Given the description of an element on the screen output the (x, y) to click on. 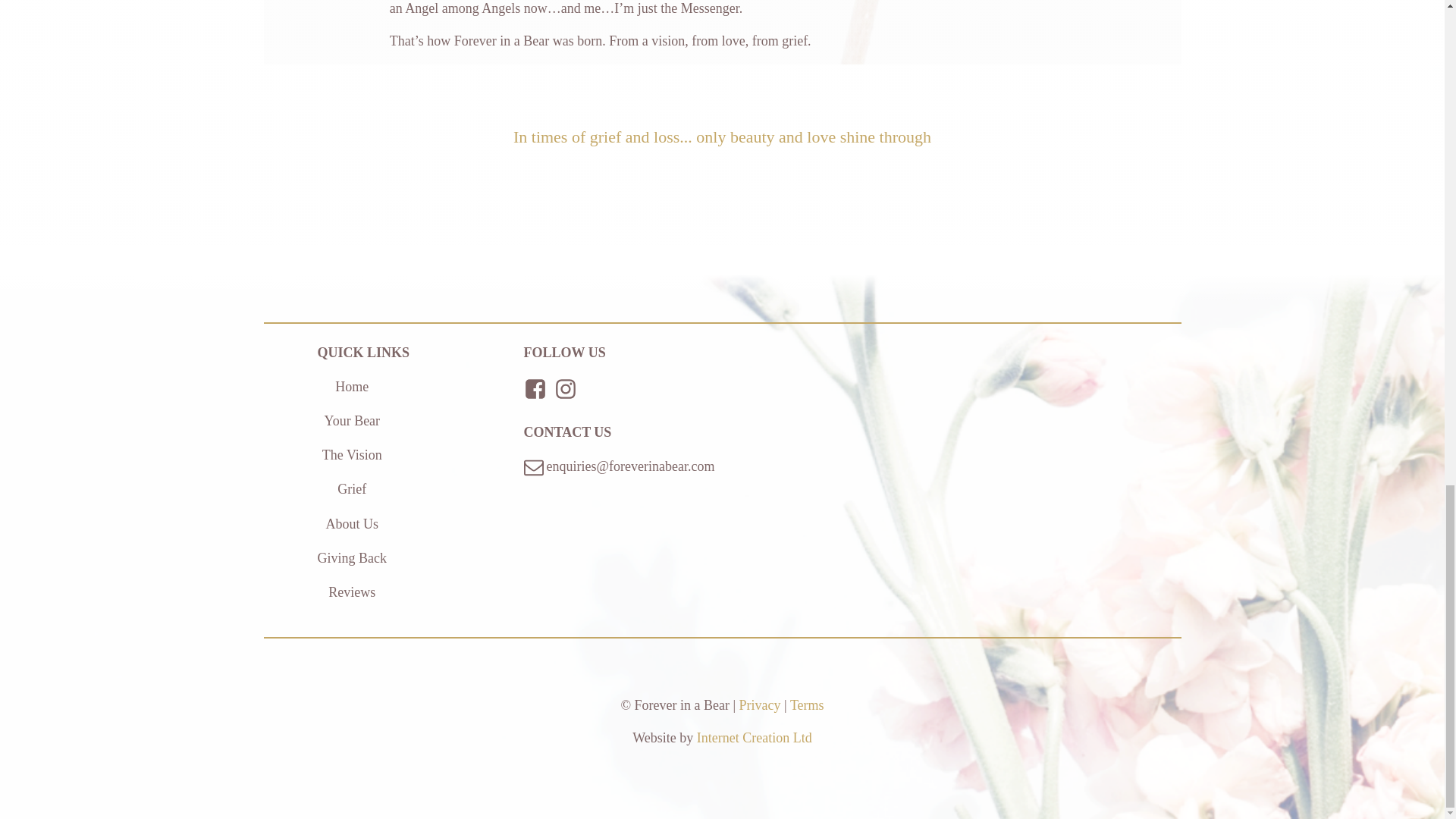
About Us (352, 524)
Privacy (759, 704)
The Vision (352, 455)
Reviews (352, 592)
Internet Creation Ltd (754, 737)
Grief (352, 488)
Giving Back (352, 558)
Terms (807, 704)
Home (352, 386)
Your Bear (352, 420)
